Given the description of an element on the screen output the (x, y) to click on. 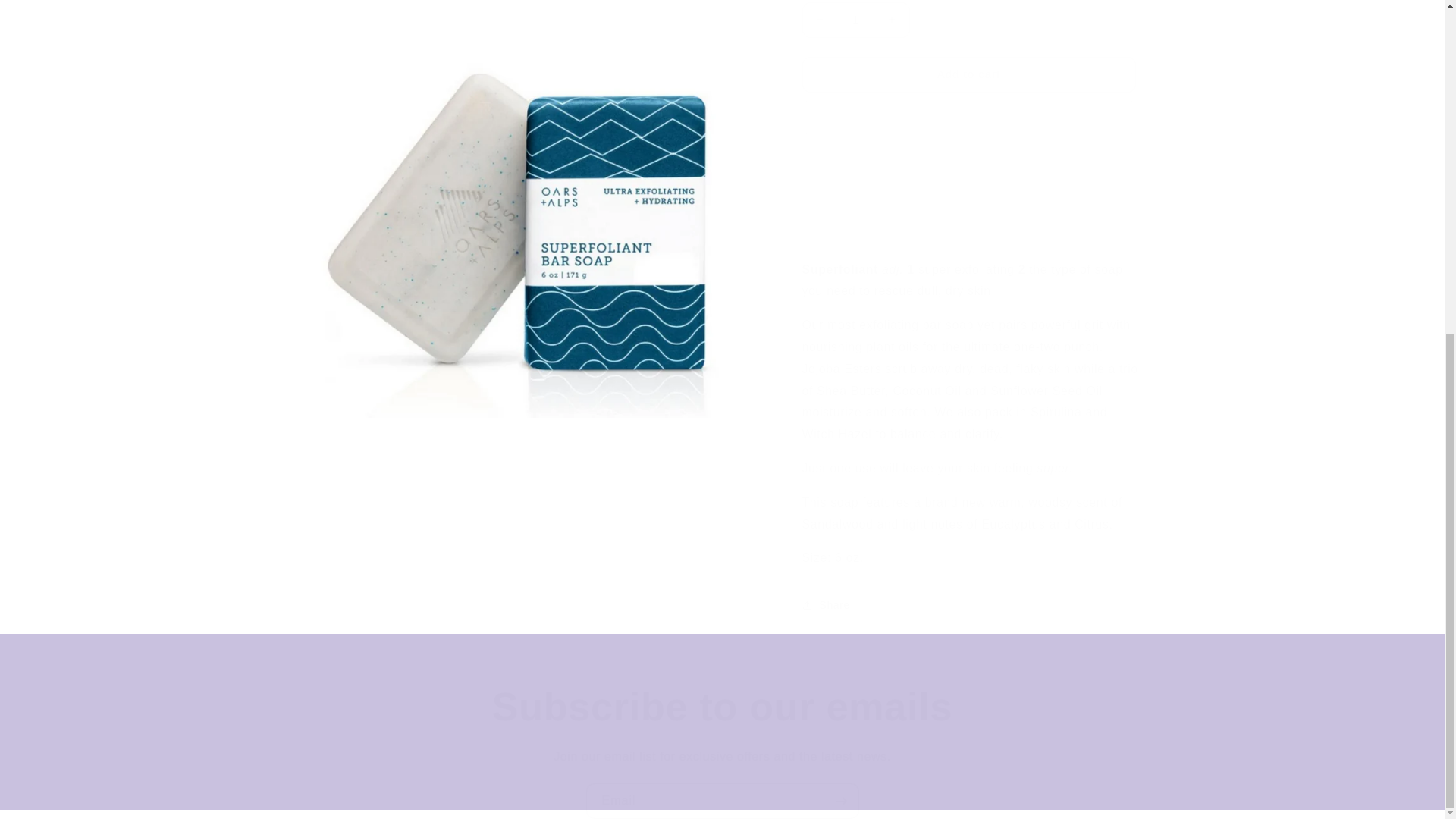
Subscribe to our emails (721, 706)
1 (856, 13)
Open media 1 in modal (529, 74)
